Given the description of an element on the screen output the (x, y) to click on. 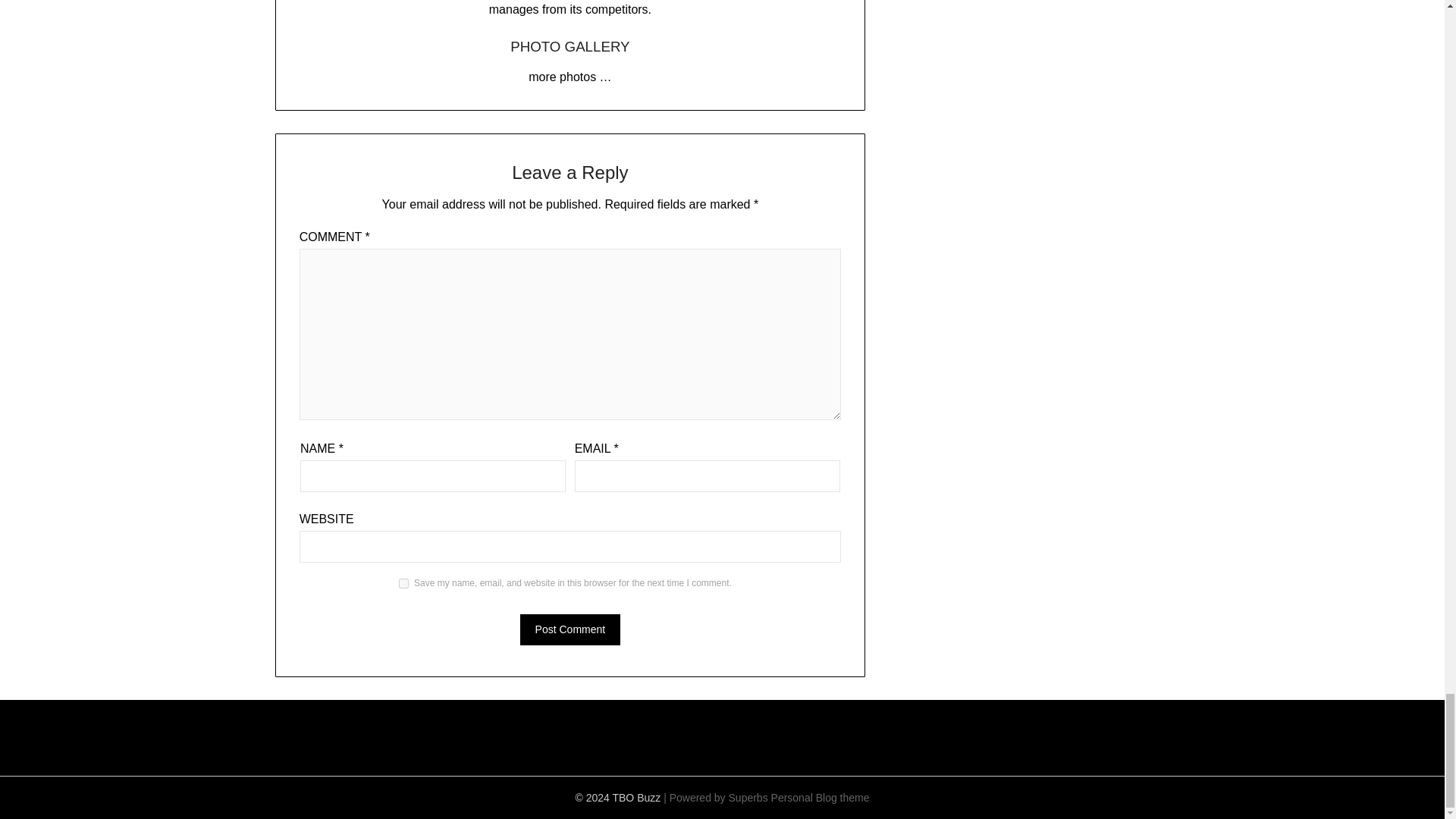
Personal Blog theme (820, 797)
yes (403, 583)
Post Comment (570, 629)
Post Comment (570, 629)
